Given the description of an element on the screen output the (x, y) to click on. 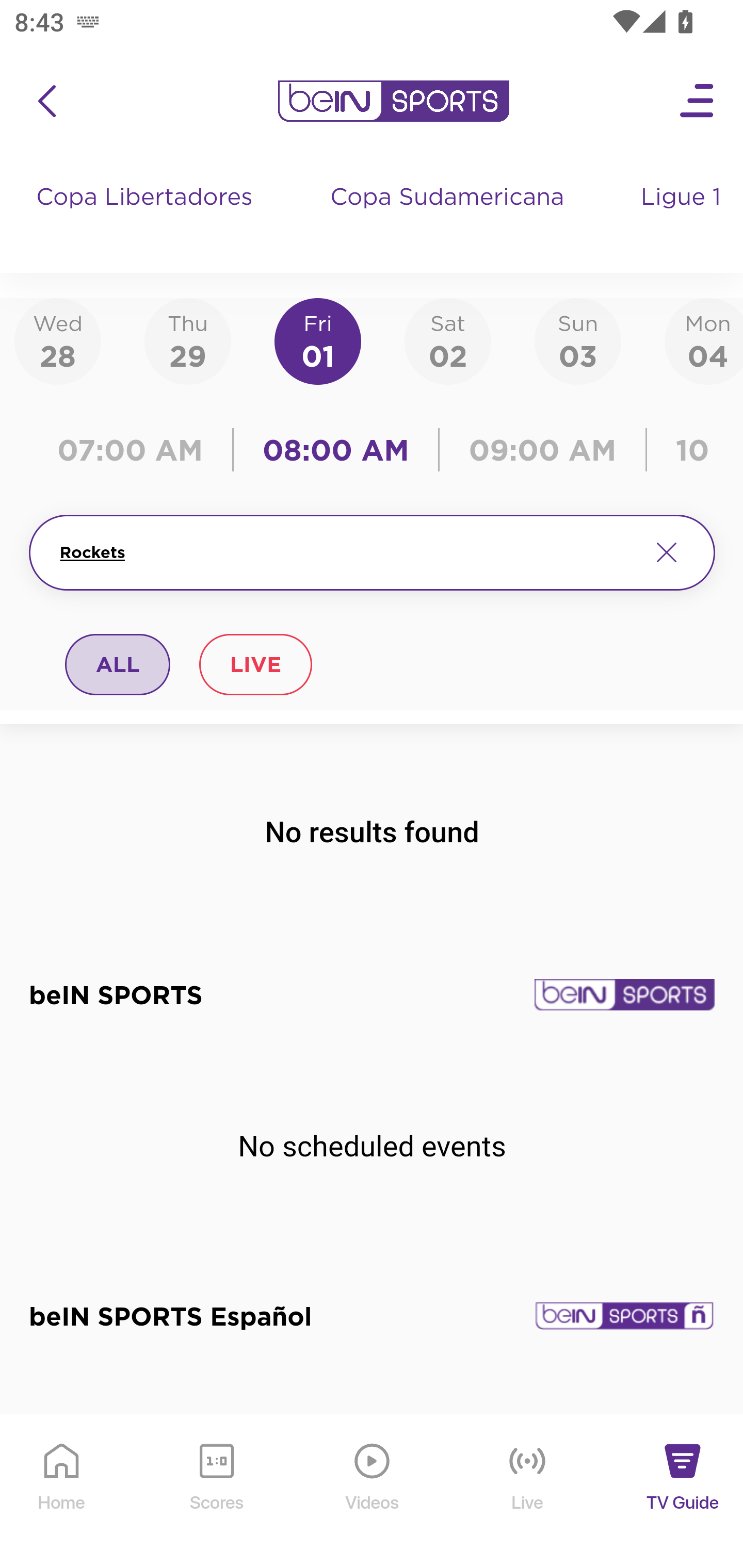
en-us?platform=mobile_android bein logo (392, 101)
icon back (46, 101)
Open Menu Icon (697, 101)
Copa Libertadores (146, 216)
Copa Sudamericana (448, 216)
Ligue 1 (682, 216)
Wed28 (58, 340)
Thu29 (187, 340)
Fri01 (318, 340)
Sat02 (447, 340)
Sun03 (578, 340)
Mon04 (703, 340)
07:00 AM (135, 449)
08:00 AM (336, 449)
09:00 AM (542, 449)
Rockets (346, 552)
ALL (118, 663)
LIVE (255, 663)
Home Home Icon Home (61, 1491)
Scores Scores Icon Scores (216, 1491)
Videos Videos Icon Videos (372, 1491)
TV Guide TV Guide Icon TV Guide (682, 1491)
